Given the description of an element on the screen output the (x, y) to click on. 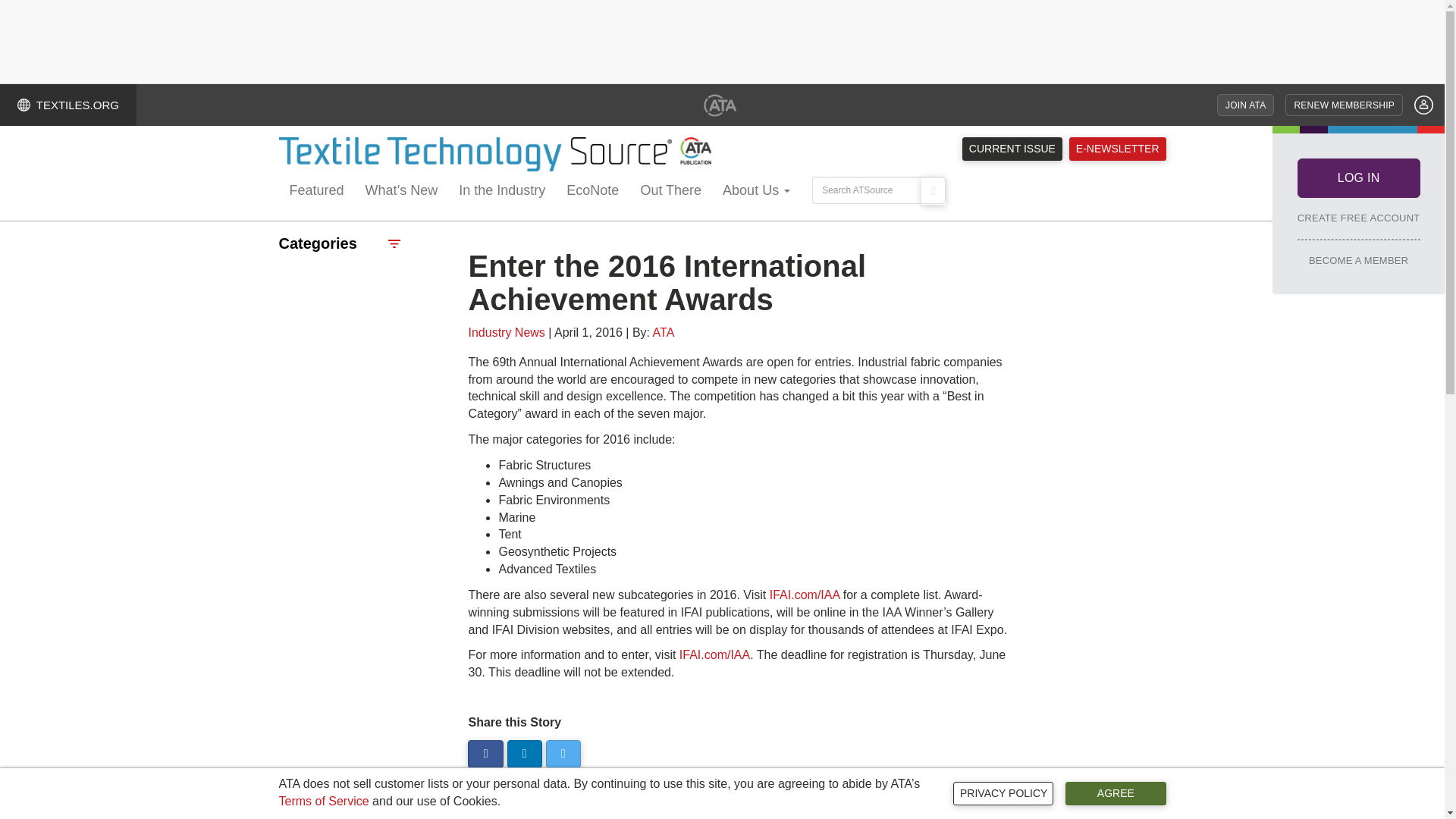
Categories (339, 243)
EcoNote (592, 191)
Follow us on Twitter (563, 754)
LOG IN (1359, 177)
E-NEWSLETTER (1117, 148)
Share on Facebook (485, 754)
CURRENT ISSUE (1012, 148)
In the Industry (502, 191)
JOIN ATA (1245, 105)
Follow us on LinkedIn (523, 754)
About Us (755, 191)
Textile Technology Source (495, 154)
RENEW MEMBERSHIP (1344, 105)
Featured (317, 191)
Out There (669, 191)
